Given the description of an element on the screen output the (x, y) to click on. 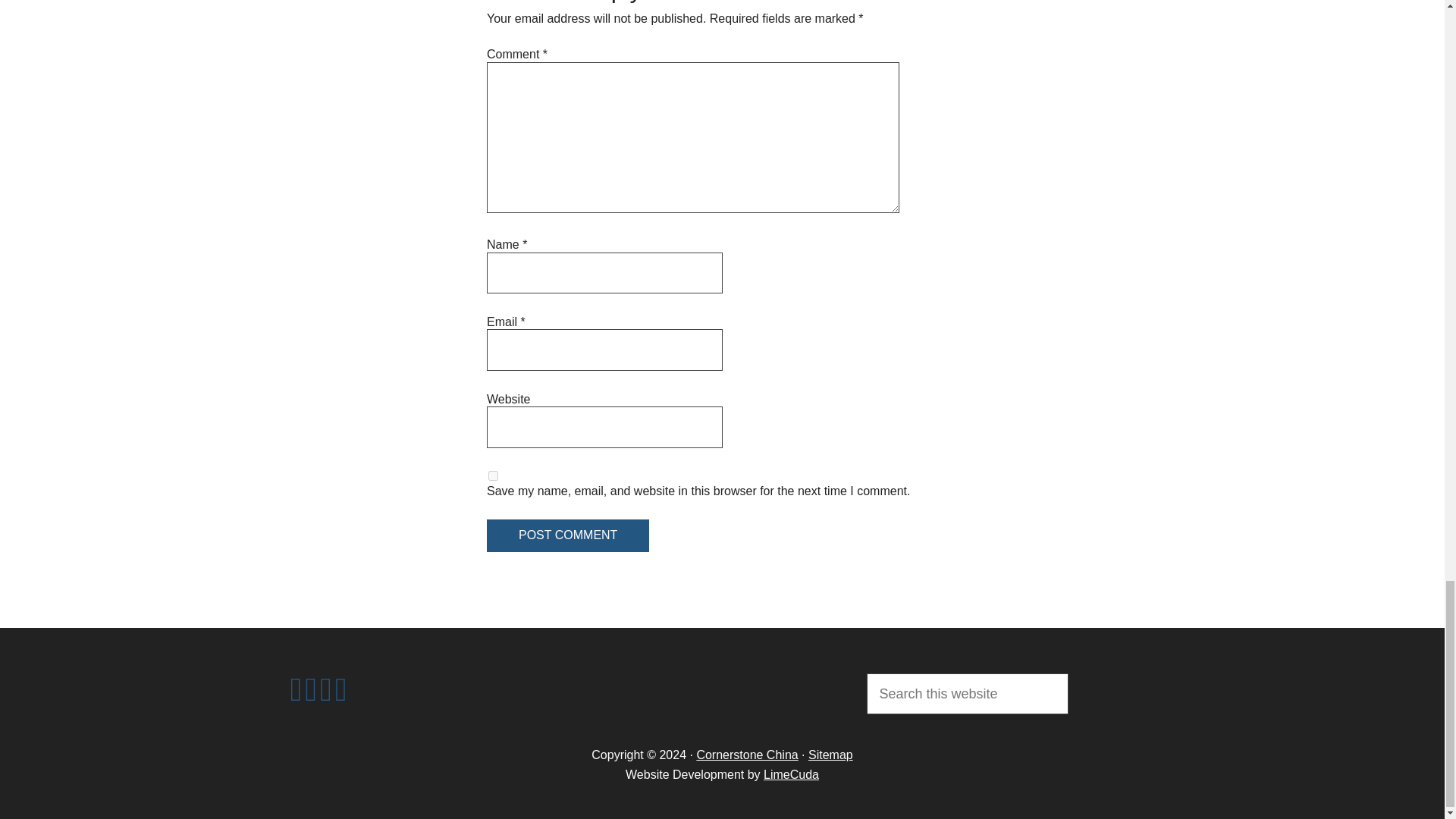
Follow Cornerstone on Facebook (325, 696)
Follow Cornerstone on WeChat (310, 696)
yes (492, 475)
Strategic Website Development (790, 774)
Post Comment (567, 535)
Follow Cornerstone on Twitter (340, 696)
Follow Cornerstone on LinkedIn (295, 696)
